Given the description of an element on the screen output the (x, y) to click on. 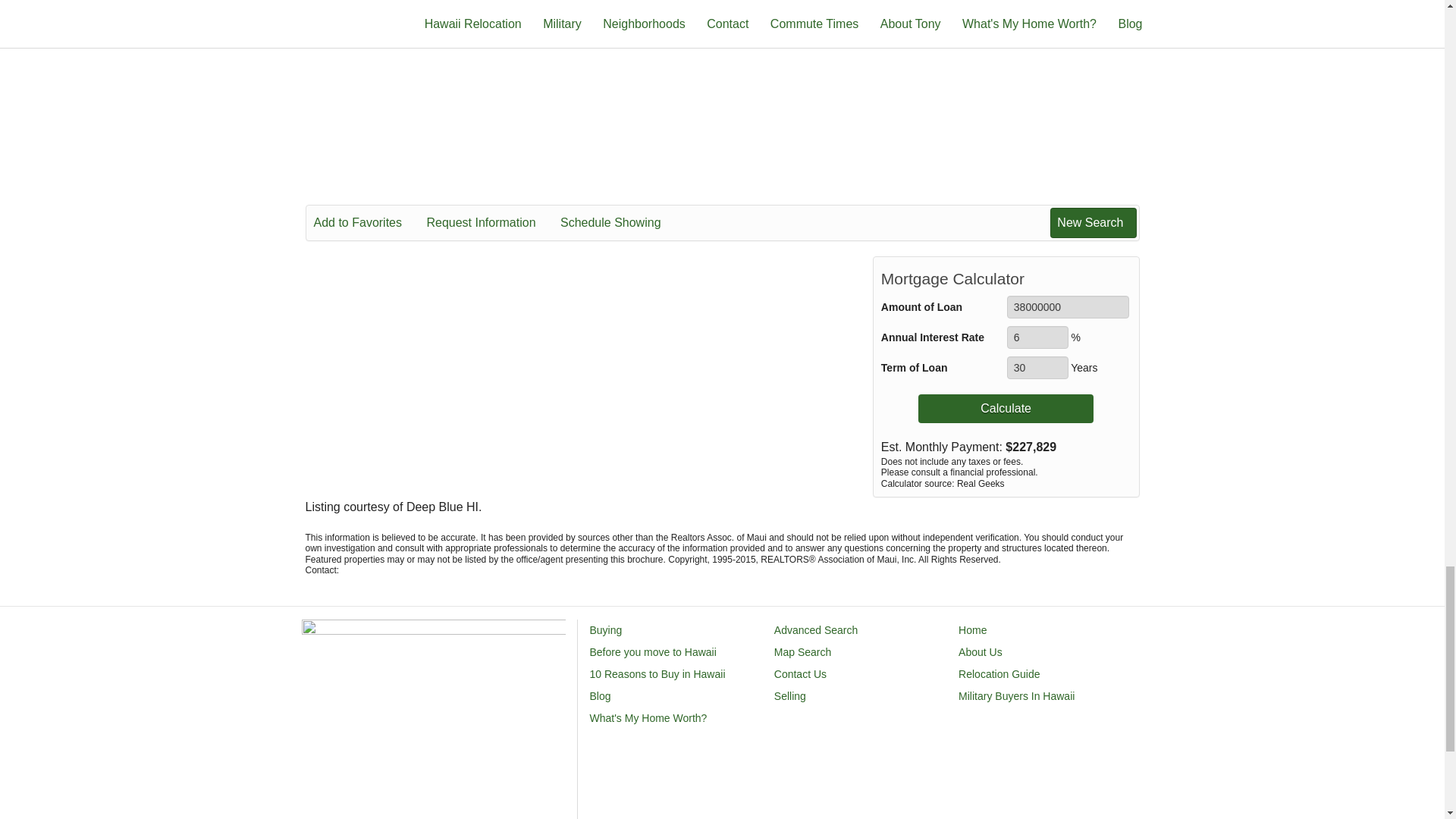
38000000 (1068, 306)
6 (1037, 336)
30 (1037, 367)
